Given the description of an element on the screen output the (x, y) to click on. 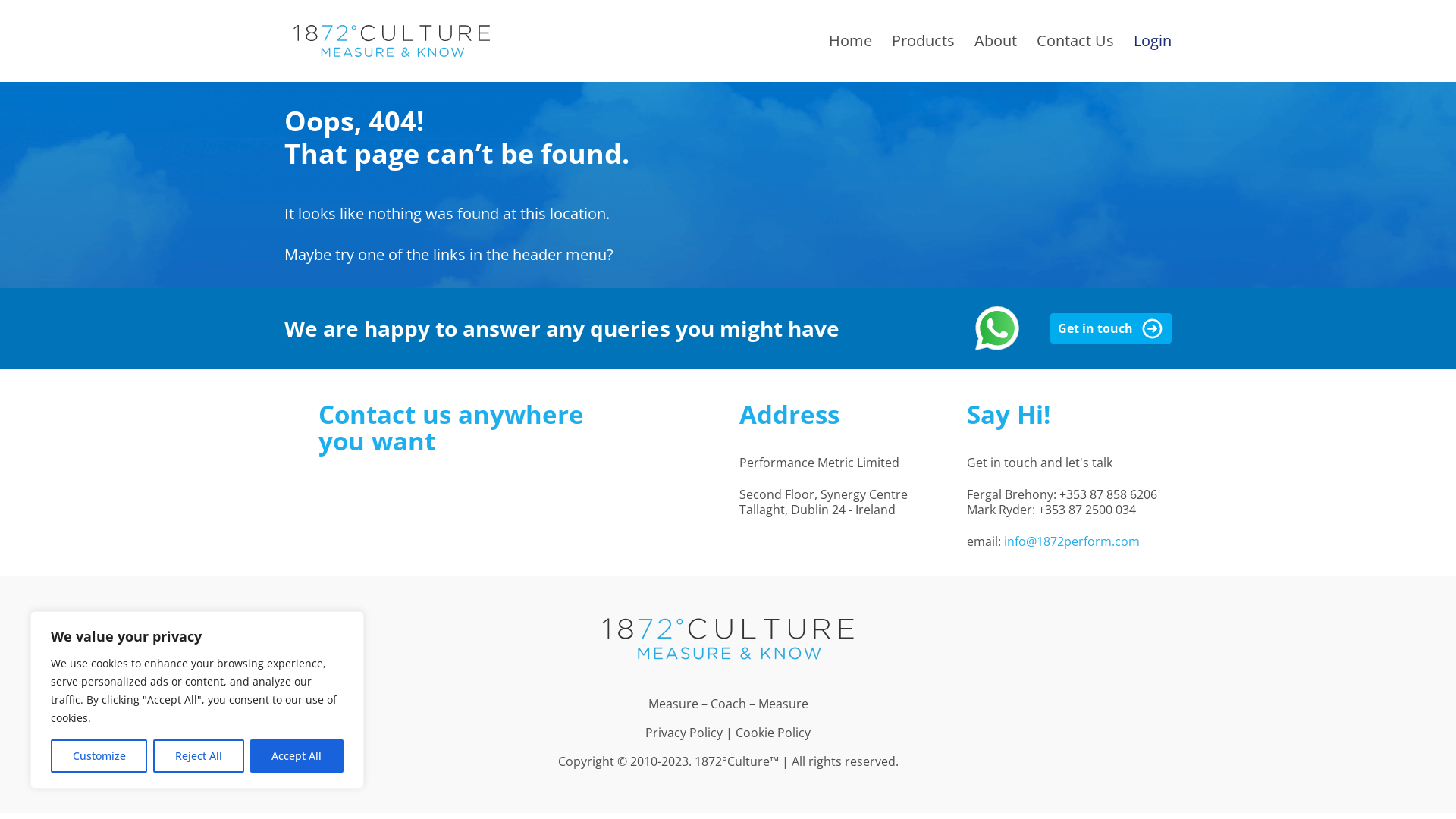
About Element type: text (995, 40)
Login Element type: text (1152, 40)
Cookie Policy Element type: text (772, 732)
Home Element type: text (850, 40)
info@1872perform.com Element type: text (1071, 541)
Reject All Element type: text (198, 755)
Accept All Element type: text (296, 755)
Products Element type: text (922, 40)
Privacy Policy Element type: text (683, 732)
Customize Element type: text (98, 755)
Contact Us Element type: text (1074, 40)
Get in touch Element type: text (1110, 328)
